Given the description of an element on the screen output the (x, y) to click on. 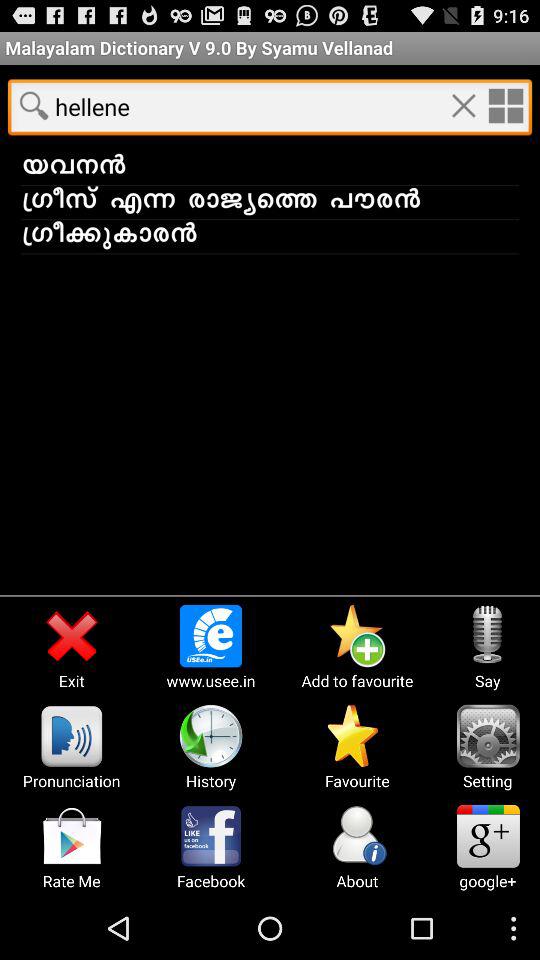
delete button (463, 105)
